Given the description of an element on the screen output the (x, y) to click on. 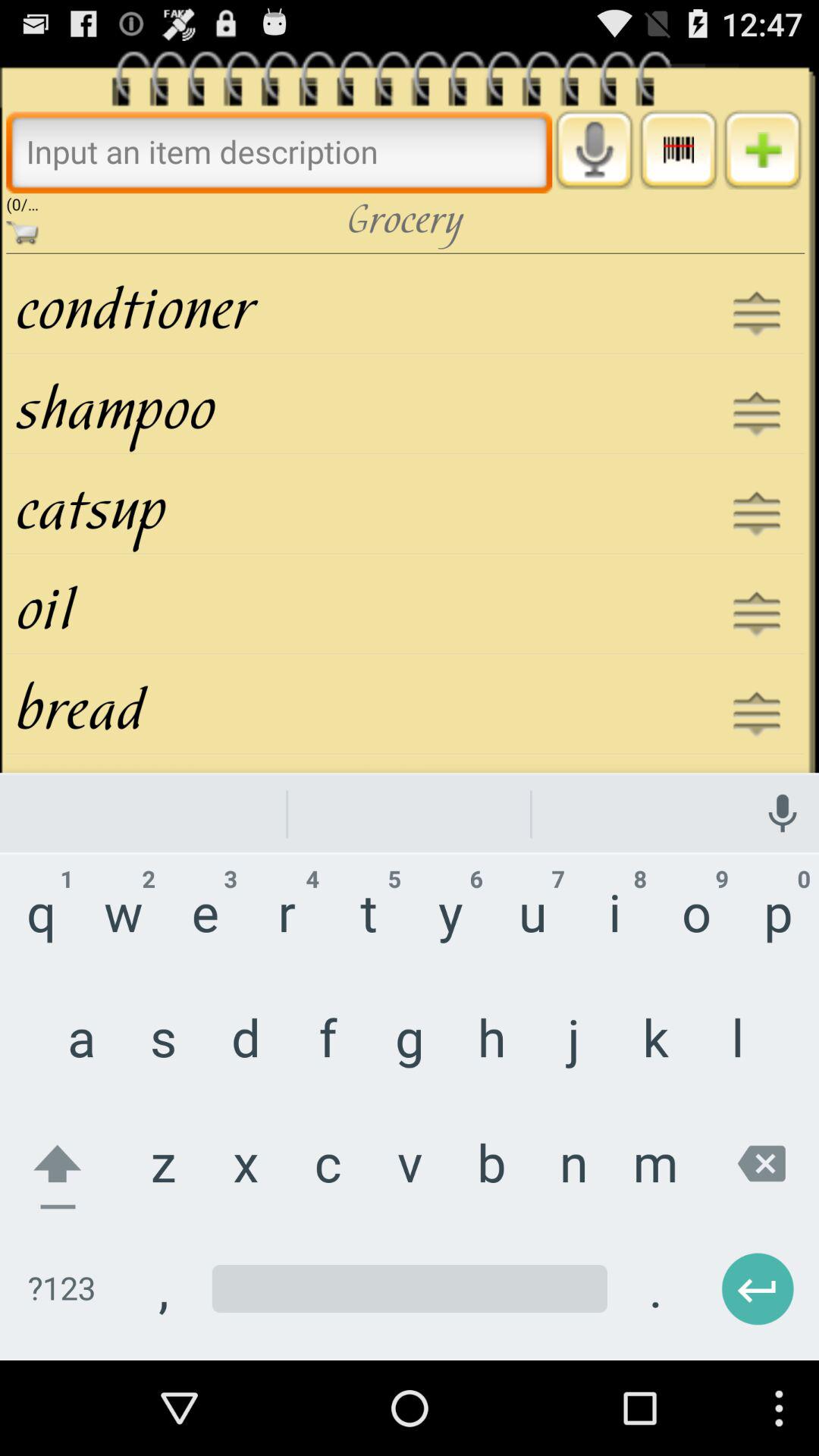
enable voice input button (594, 149)
